Given the description of an element on the screen output the (x, y) to click on. 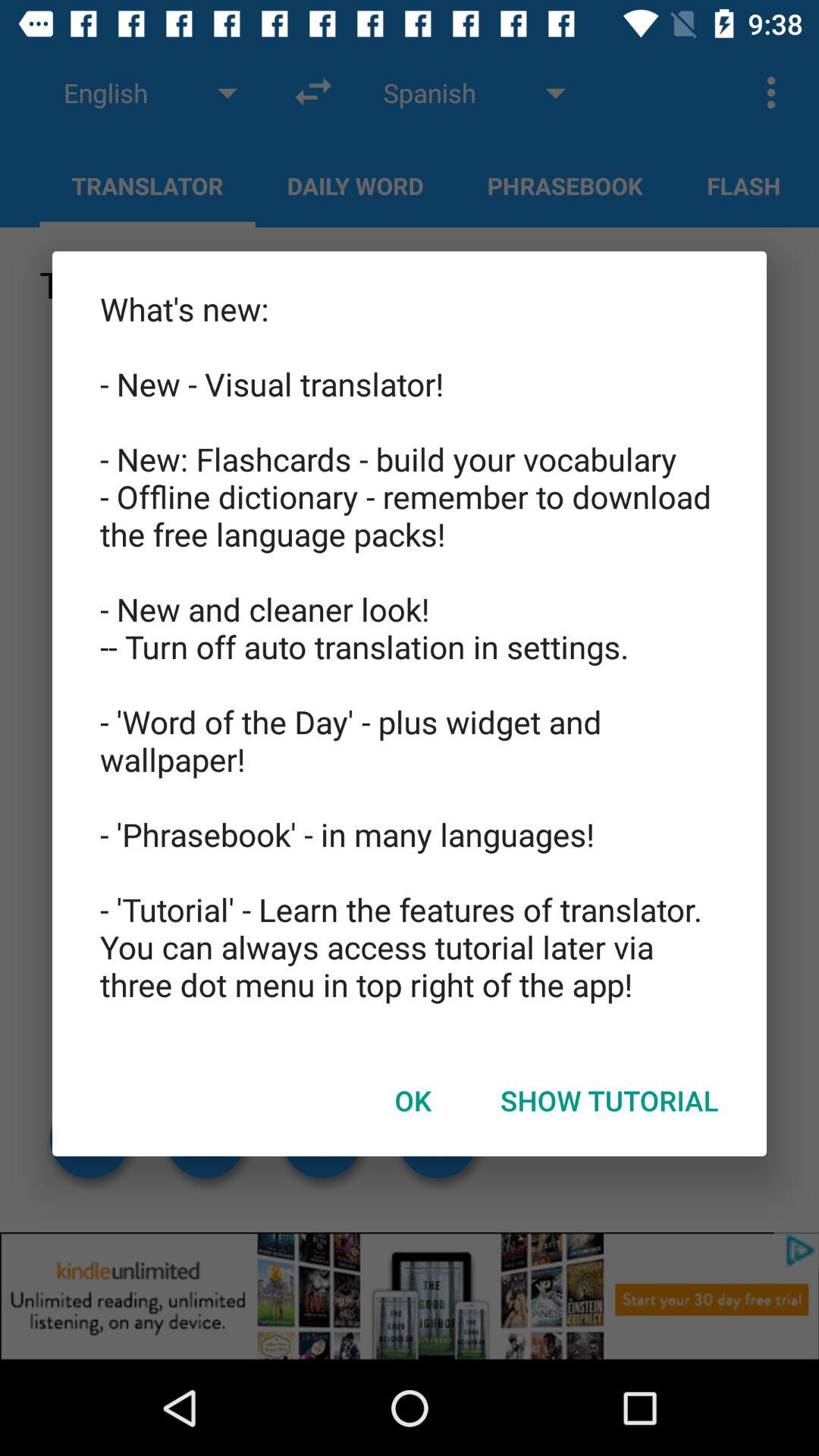
select the ok at the bottom (412, 1100)
